Given the description of an element on the screen output the (x, y) to click on. 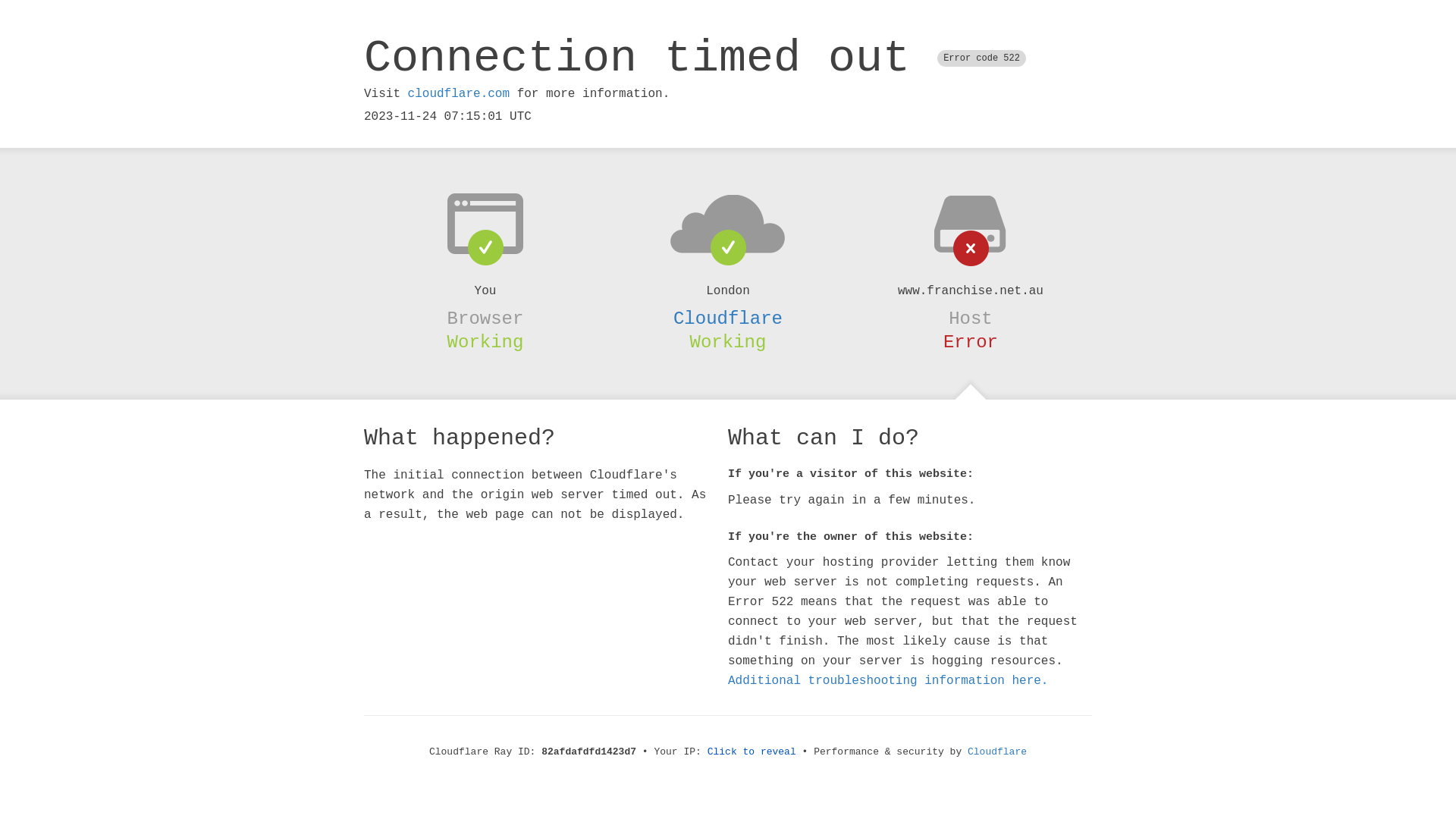
cloudflare.com Element type: text (458, 93)
Cloudflare Element type: text (996, 751)
Click to reveal Element type: text (751, 751)
Additional troubleshooting information here. Element type: text (888, 680)
Cloudflare Element type: text (727, 318)
